Given the description of an element on the screen output the (x, y) to click on. 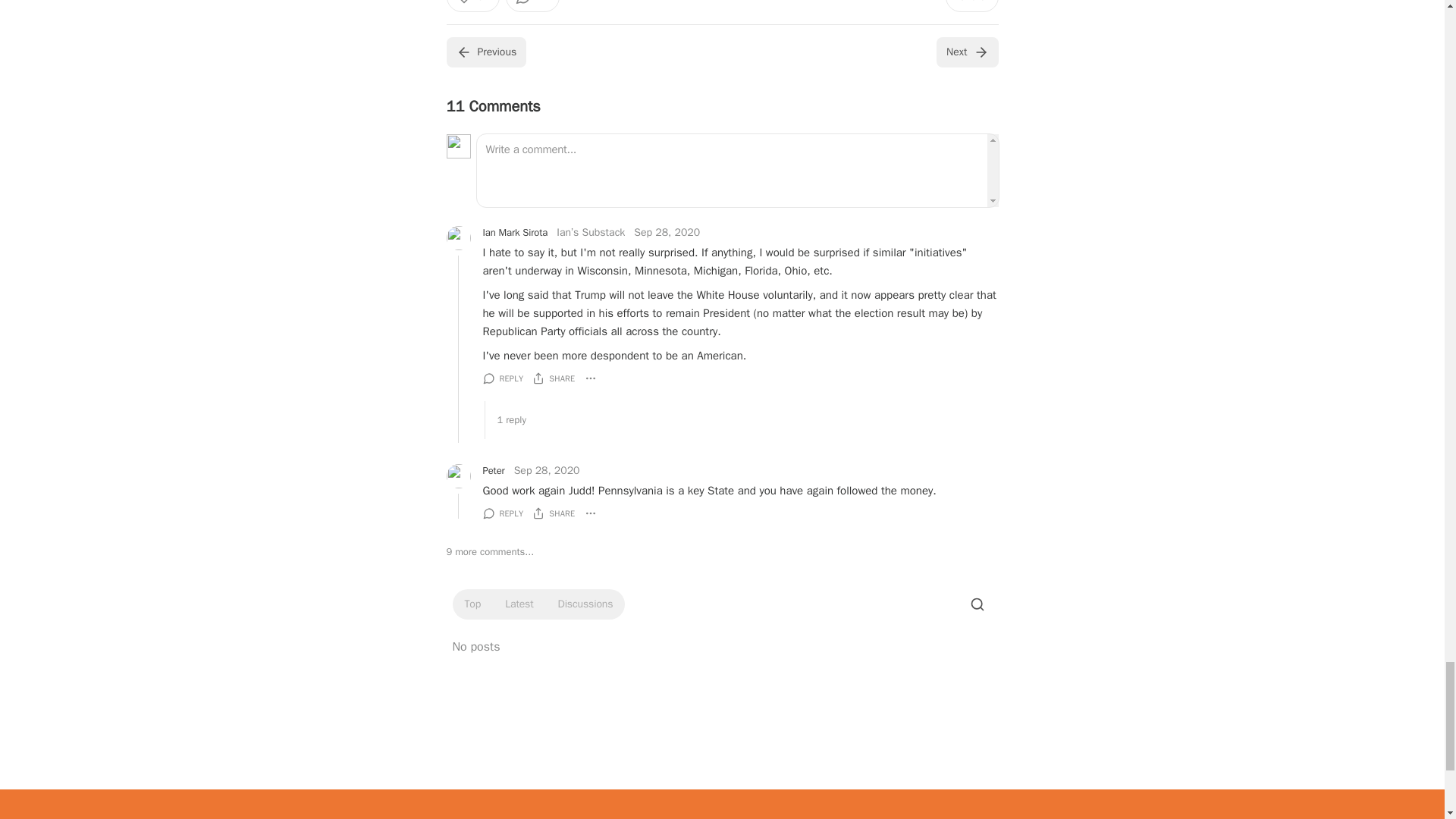
51 (472, 6)
